Given the description of an element on the screen output the (x, y) to click on. 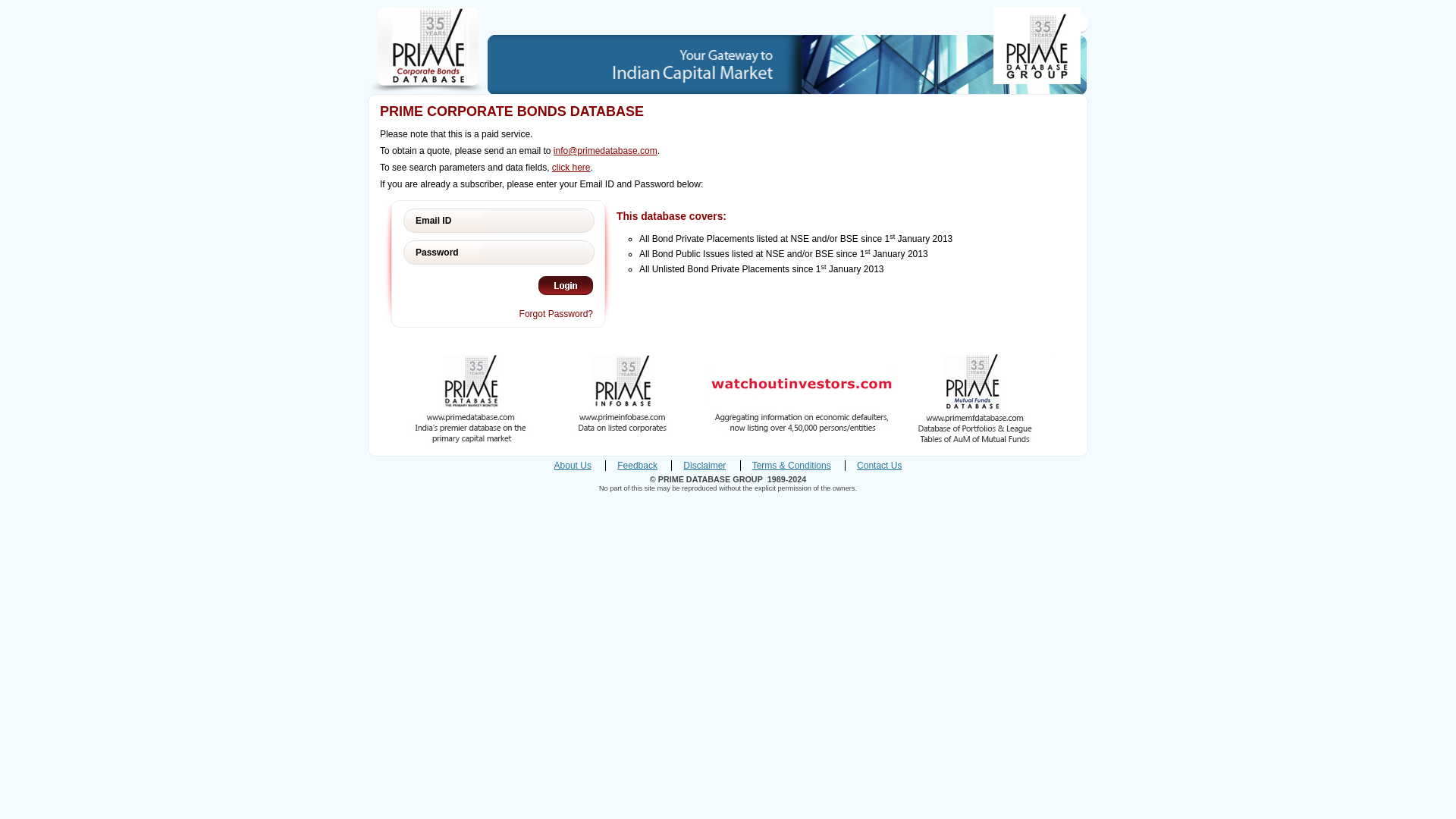
About Us (572, 465)
Contact Us (879, 465)
Forgot Password? (555, 313)
click here (571, 167)
Disclaimer (703, 465)
Feedback (637, 465)
Home (1069, 22)
